Given the description of an element on the screen output the (x, y) to click on. 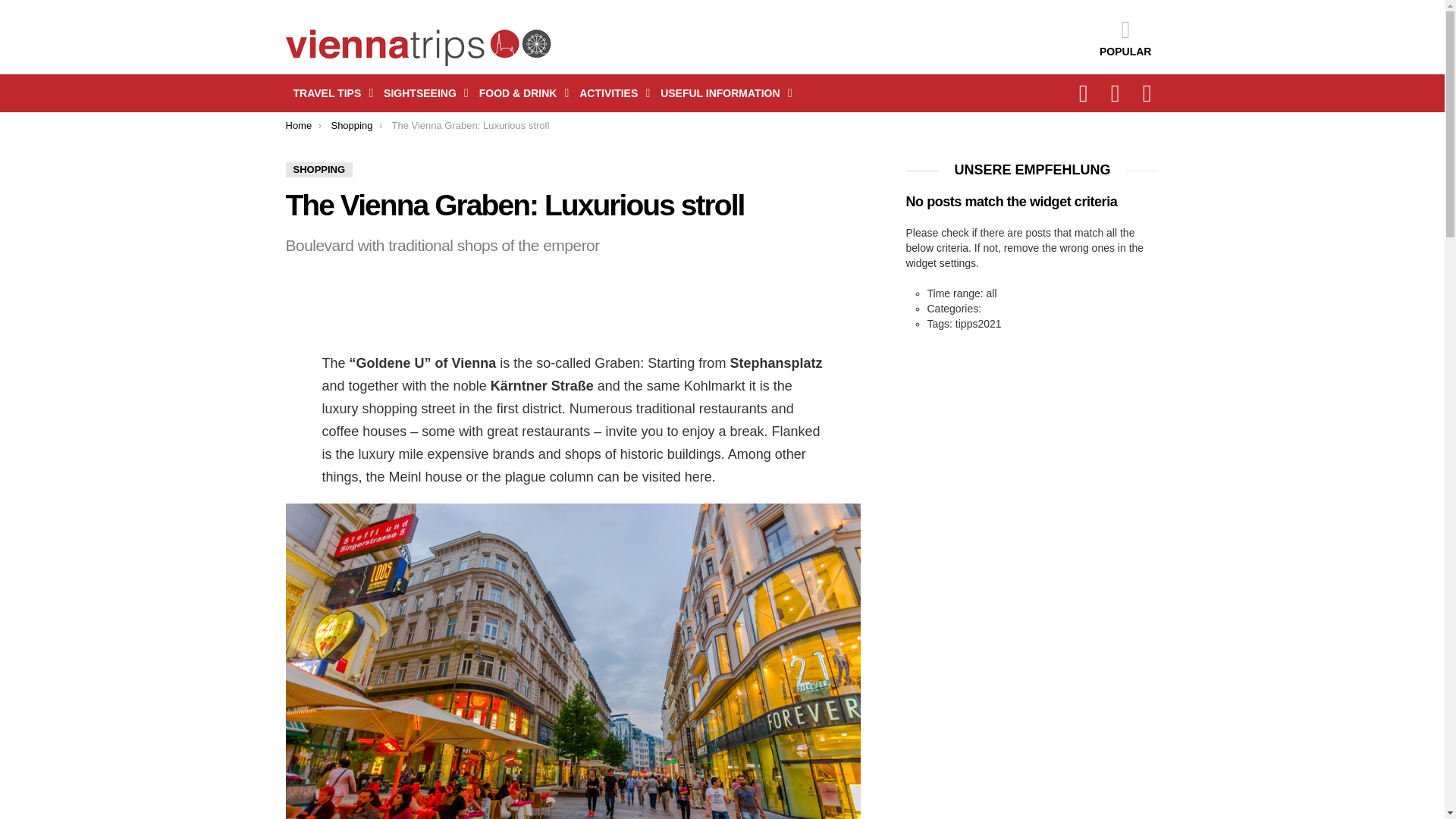
TRAVEL TIPS (328, 92)
ACTIVITIES (610, 92)
POPULAR (1125, 37)
SIGHTSEEING (421, 92)
USEFUL INFORMATION (722, 92)
